Given the description of an element on the screen output the (x, y) to click on. 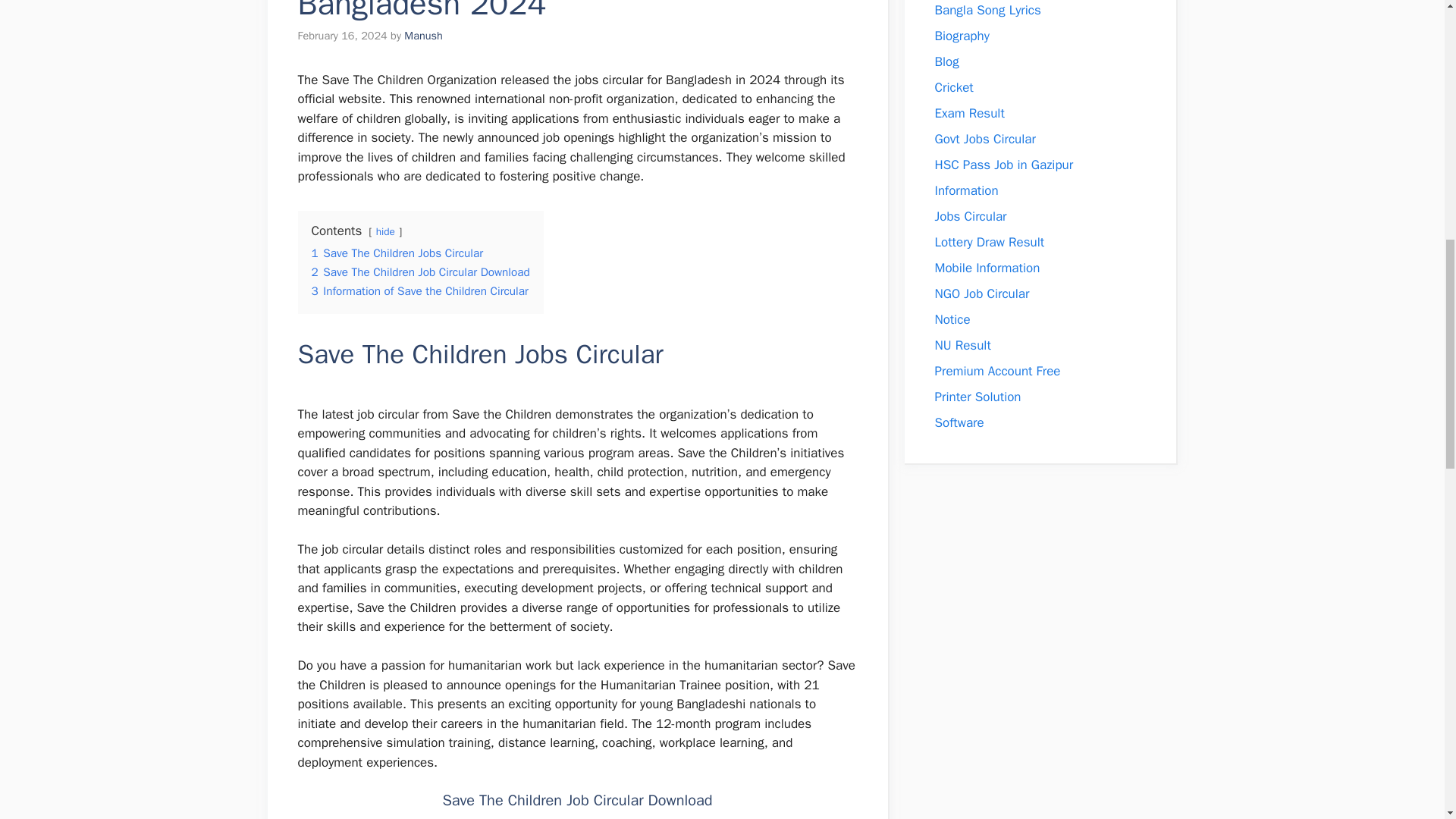
Lottery Draw Result (988, 242)
Cricket (953, 87)
Govt Jobs Circular (984, 139)
1 Save The Children Jobs Circular (397, 253)
Jobs Circular (970, 216)
hide (384, 231)
3 Information of Save the Children Circular (419, 290)
2 Save The Children Job Circular Download (420, 272)
Manush (423, 35)
Information (965, 190)
Biography (961, 35)
Bangla Song Lyrics (987, 10)
Exam Result (969, 113)
HSC Pass Job in Gazipur (1003, 164)
Blog (946, 61)
